Given the description of an element on the screen output the (x, y) to click on. 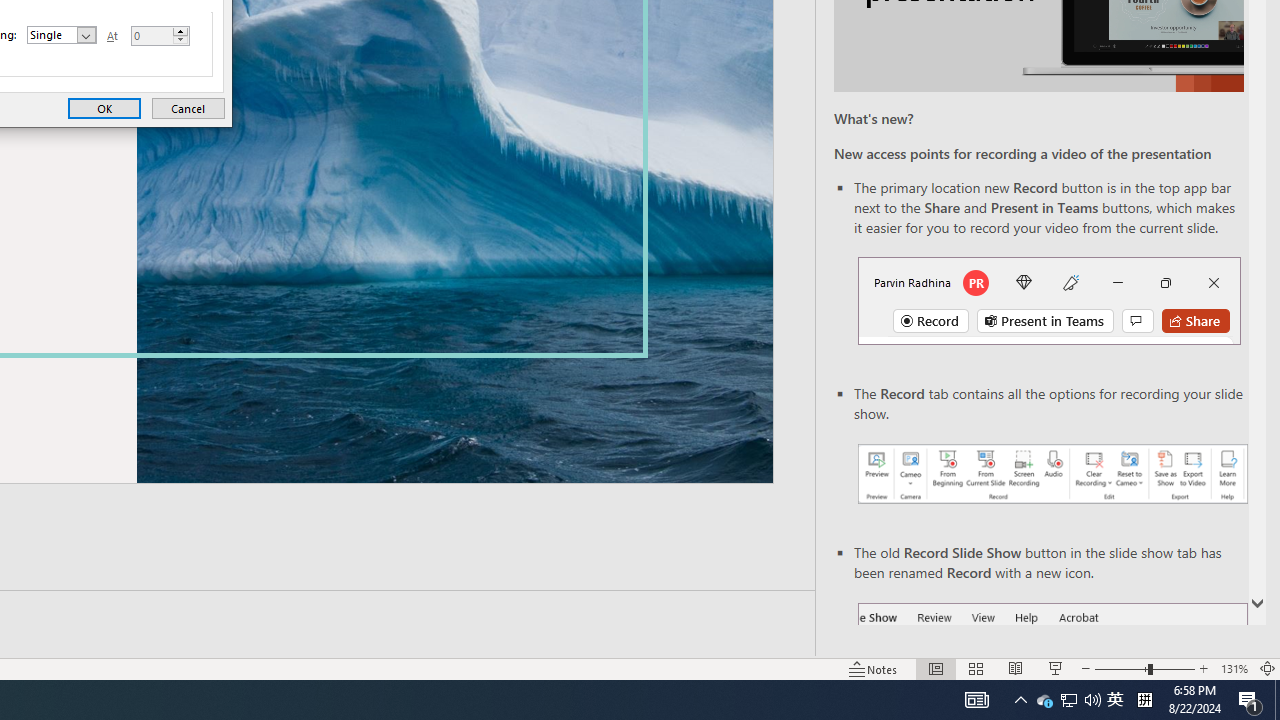
At (1044, 699)
Record your presentations screenshot one (151, 35)
Action Center, 1 new notification (1052, 473)
OK (1250, 699)
Record button in top bar (104, 108)
